Given the description of an element on the screen output the (x, y) to click on. 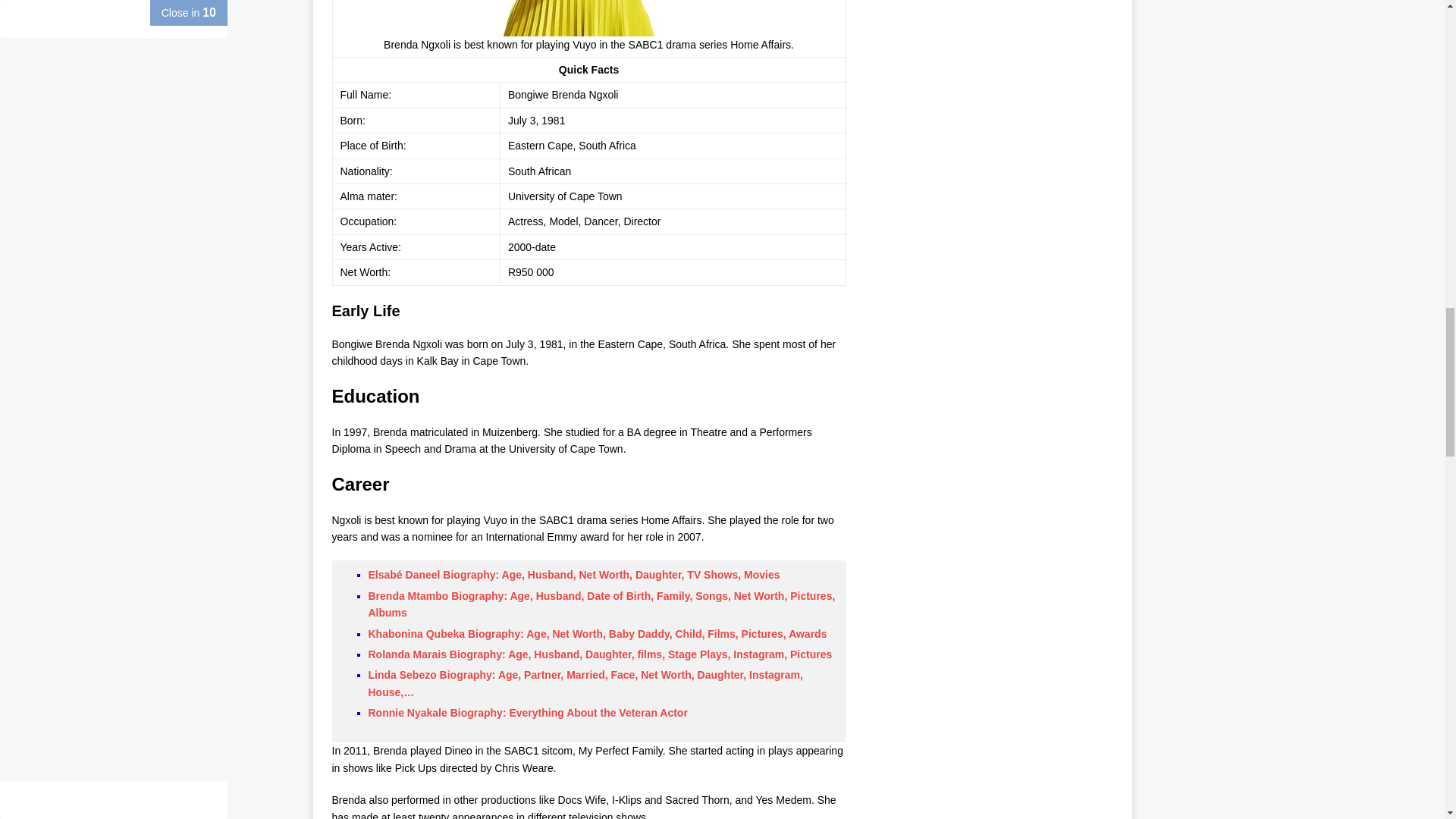
Ronnie Nyakale Biography: Everything About the Veteran Actor (527, 712)
